Given the description of an element on the screen output the (x, y) to click on. 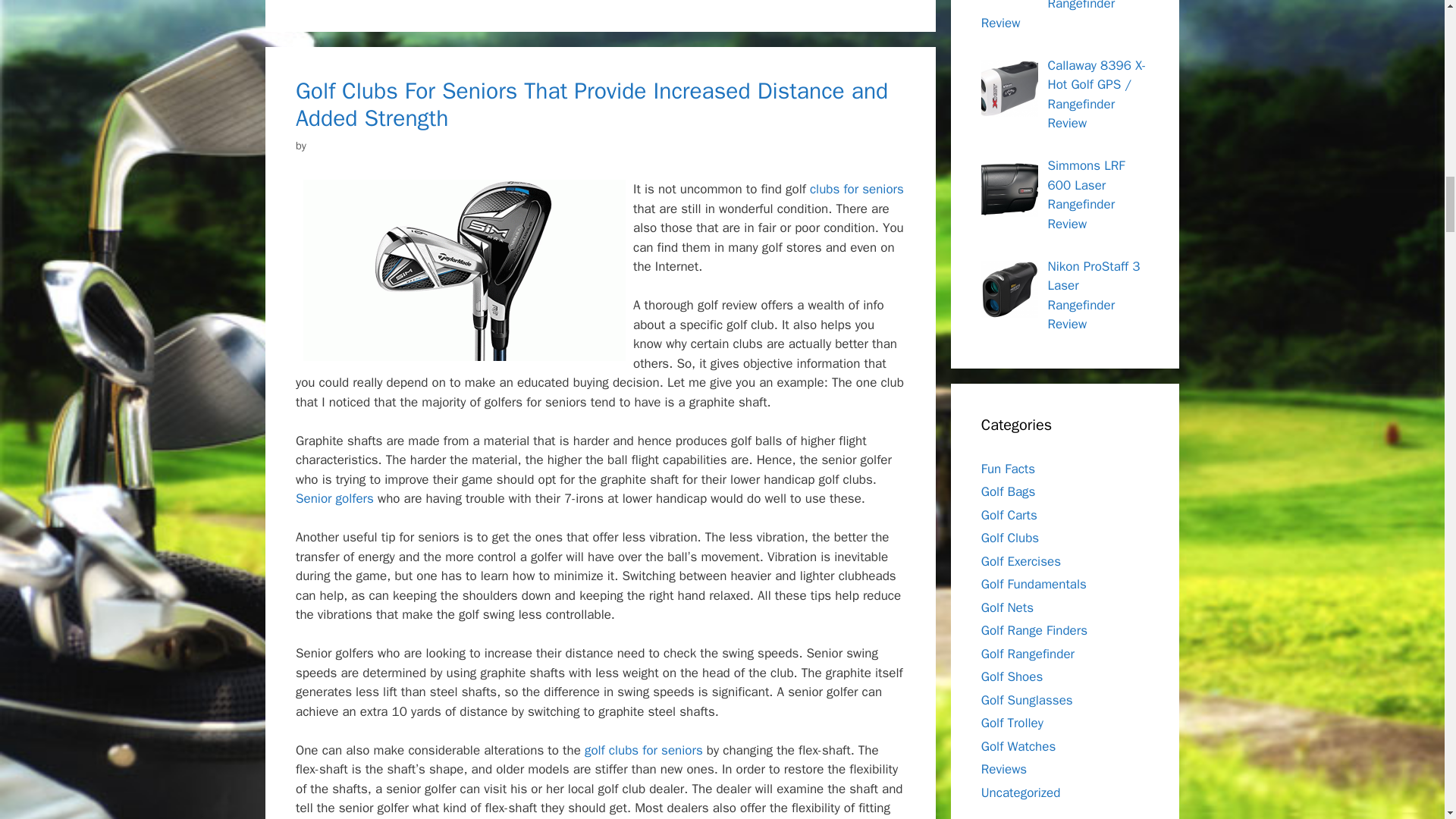
Find some of the best golf clubs information here. (1010, 537)
Find the best golf shoes article information here. (1011, 676)
Find some of the best Golf Range Finder information here. (1027, 653)
golf clubs for seniors (644, 750)
clubs for seniors (856, 188)
Senior golfers (334, 498)
